Given the description of an element on the screen output the (x, y) to click on. 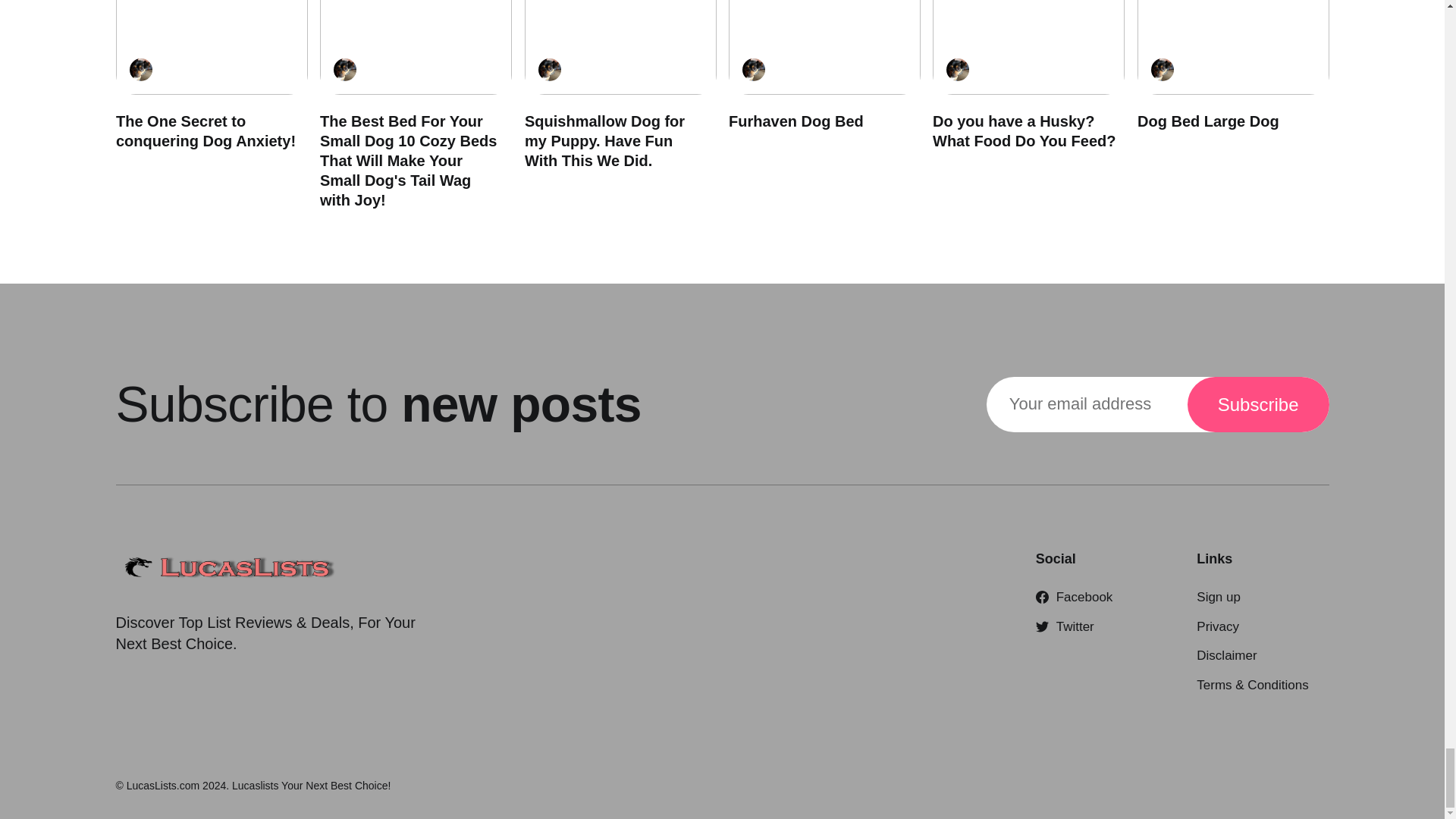
Squishmallow Dog for my Puppy. Have Fun With This We Did. (604, 140)
Joseph Lucas (344, 69)
Joseph Lucas (1161, 69)
Joseph Lucas (752, 69)
Do you have a Husky? What Food Do You Feed? (1024, 131)
Subscribe (1258, 404)
Joseph Lucas (140, 69)
The One Secret to conquering Dog Anxiety! (205, 131)
Facebook (1074, 596)
Joseph Lucas (548, 69)
Furhaven Dog Bed (795, 121)
Twitter (1064, 626)
Joseph Lucas (957, 69)
Dog Bed Large Dog (1207, 121)
